Given the description of an element on the screen output the (x, y) to click on. 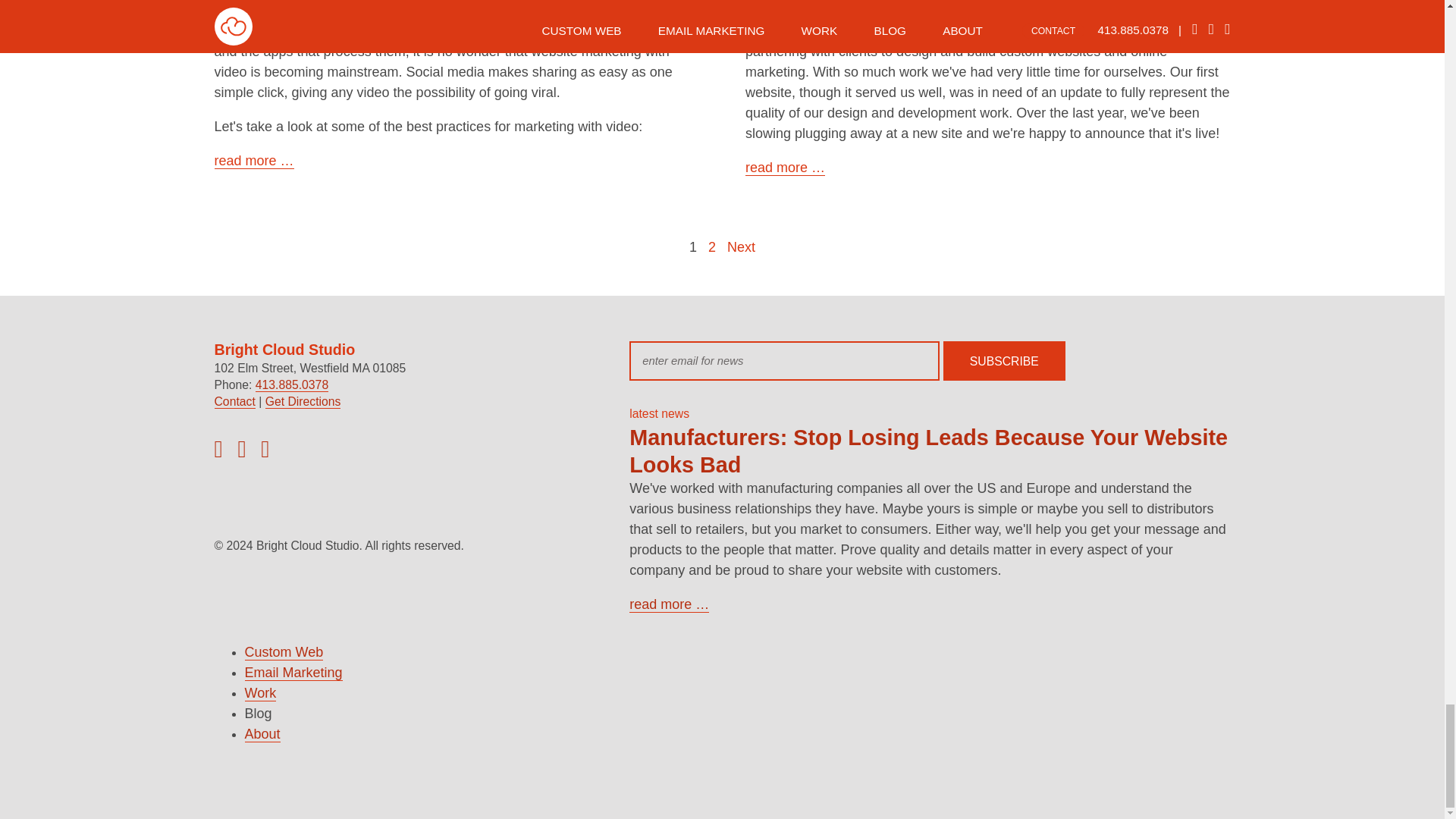
Subscribe (1004, 360)
